Given the description of an element on the screen output the (x, y) to click on. 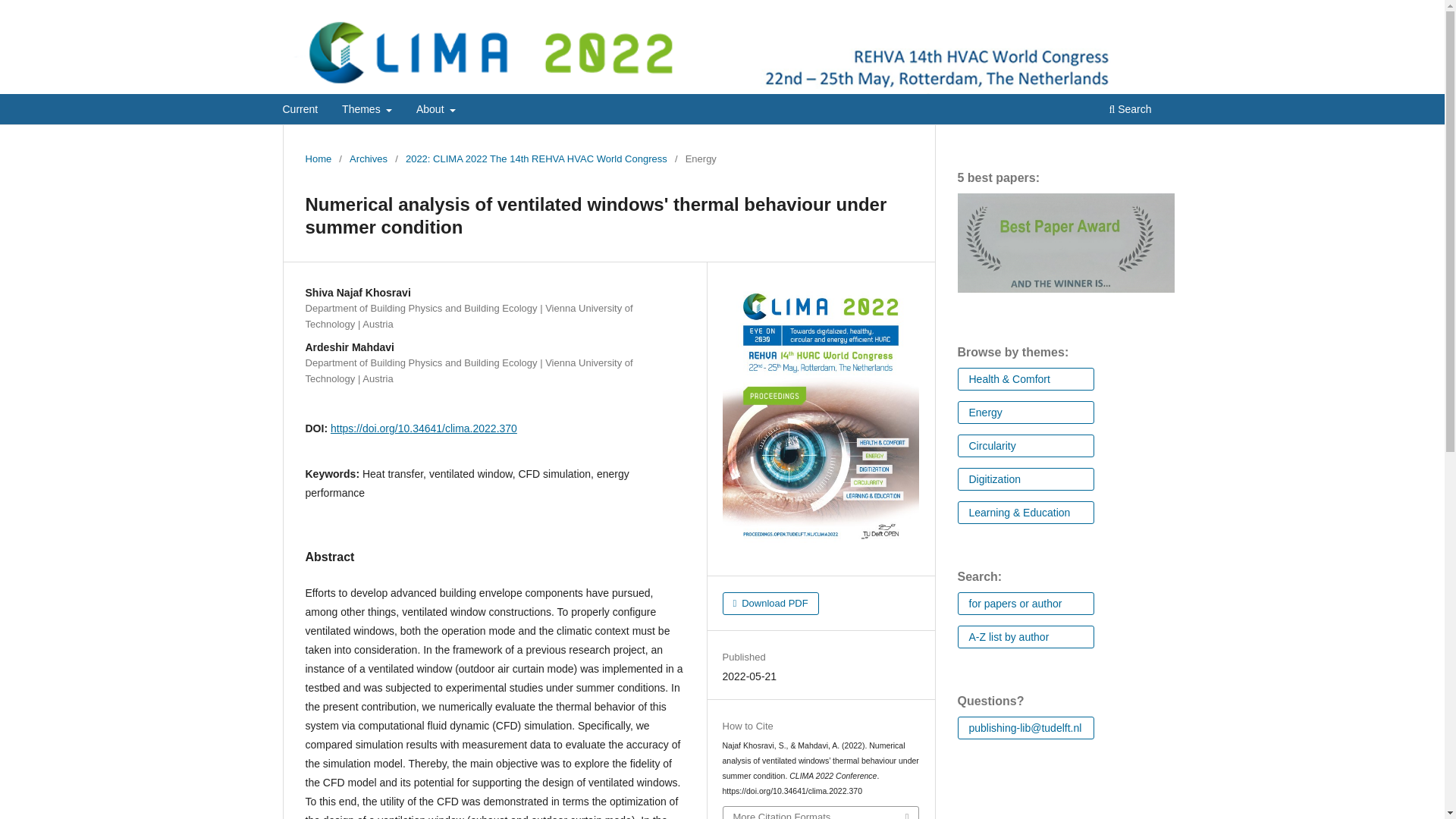
Archives (368, 159)
About (435, 110)
Themes (366, 110)
Home (317, 159)
2022: CLIMA 2022 The 14th REHVA HVAC World Congress (536, 159)
More Citation Formats (820, 812)
Login (1150, 11)
Search (1129, 110)
Download PDF (770, 602)
Current (300, 110)
